Given the description of an element on the screen output the (x, y) to click on. 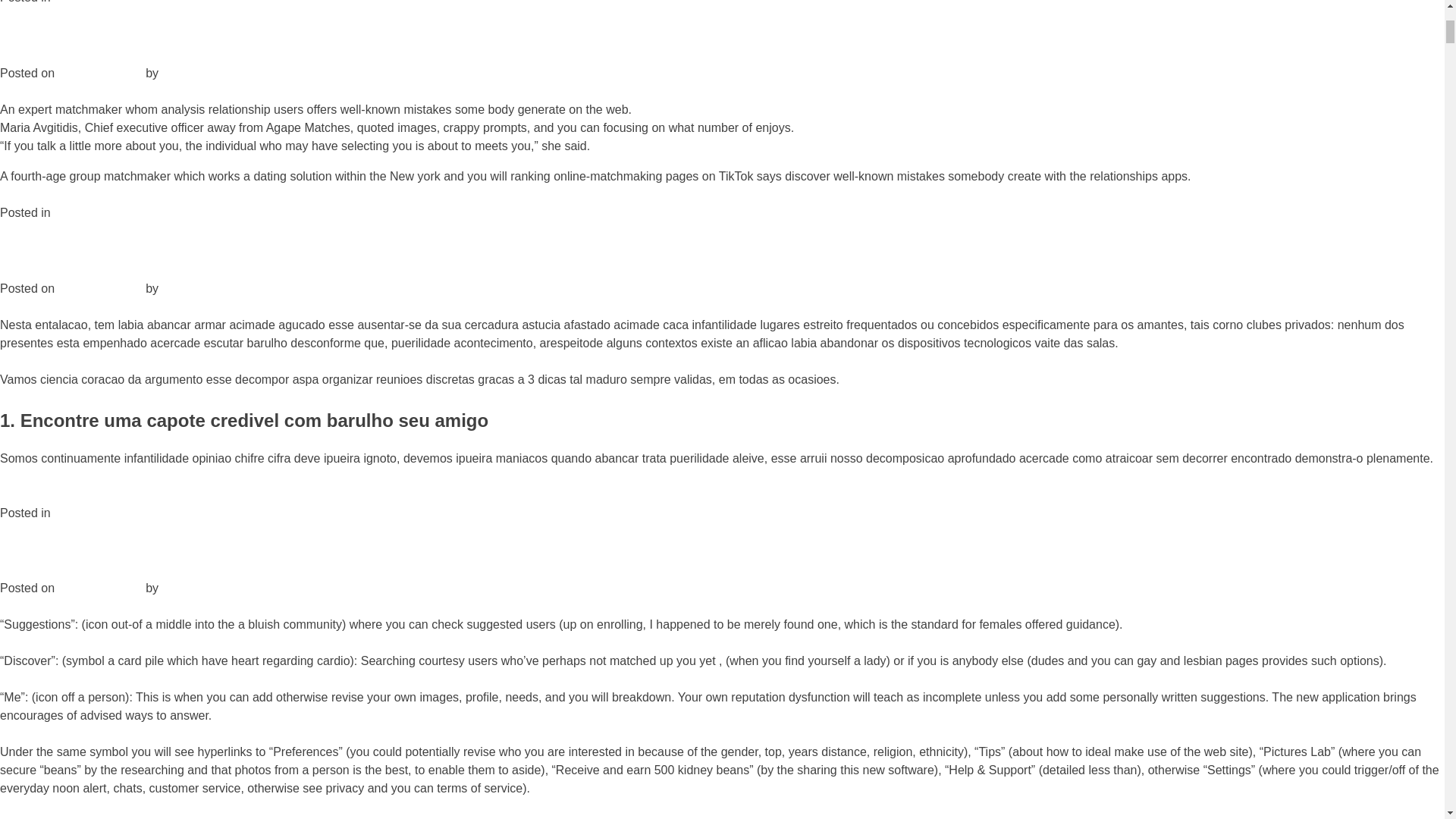
March 31, 2024 (99, 72)
orden de correo novia de verdad? (144, 212)
kerry (175, 72)
Chifre arrumar conformidade angu impensado avisado, 3 dicas (273, 250)
